Given the description of an element on the screen output the (x, y) to click on. 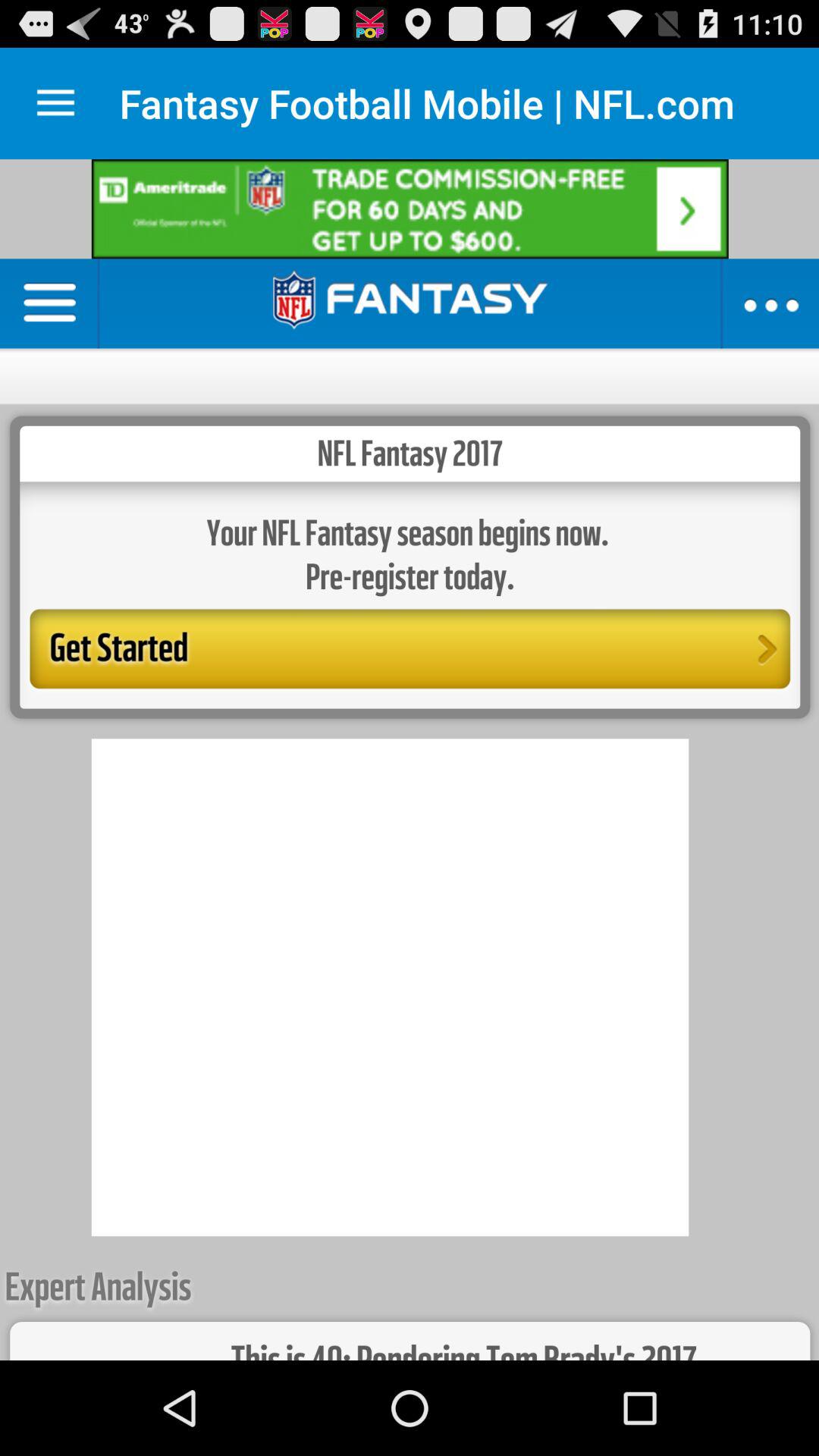
display menu options (55, 103)
